Given the description of an element on the screen output the (x, y) to click on. 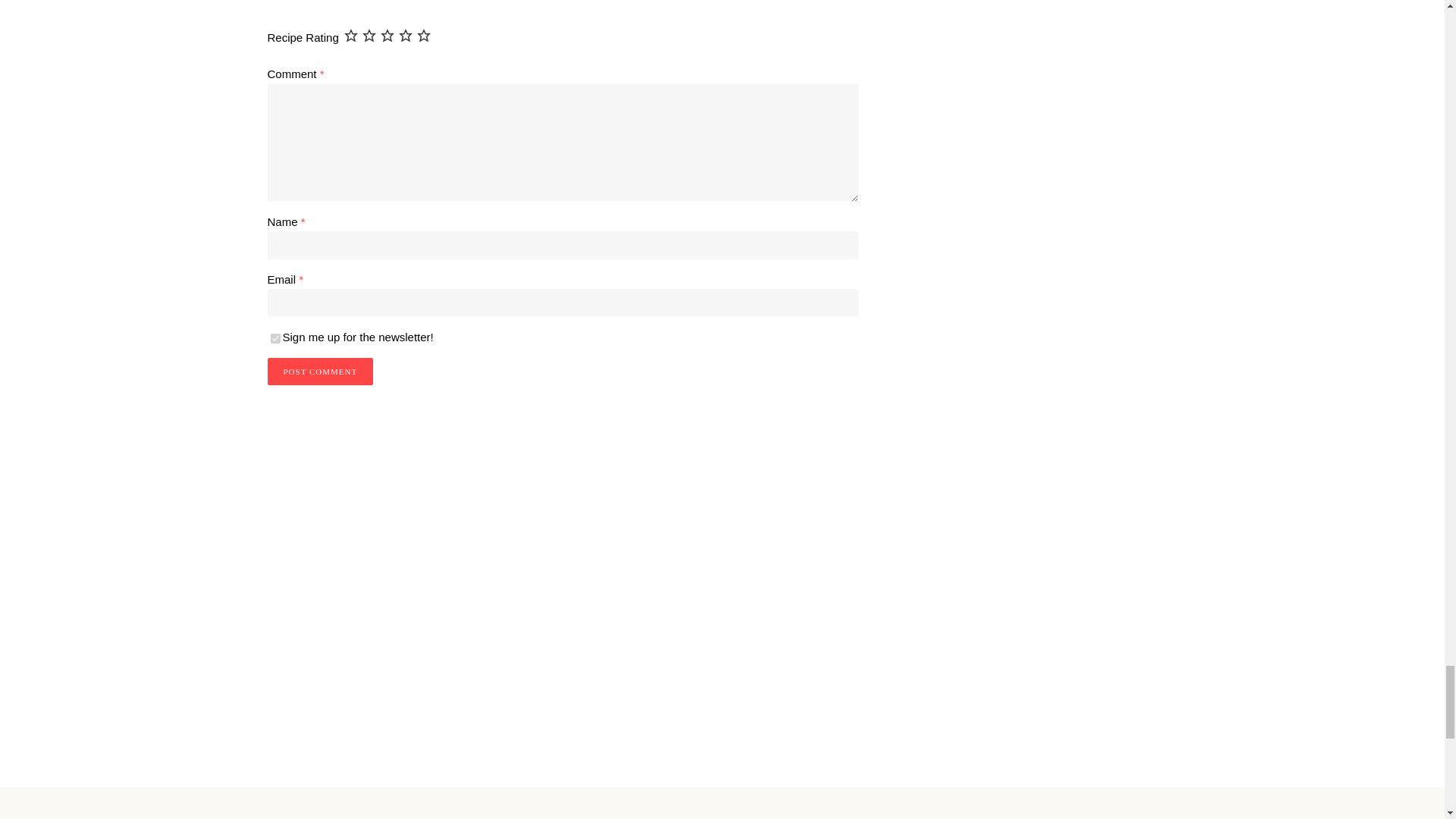
Post Comment (319, 370)
1 (274, 338)
